Given the description of an element on the screen output the (x, y) to click on. 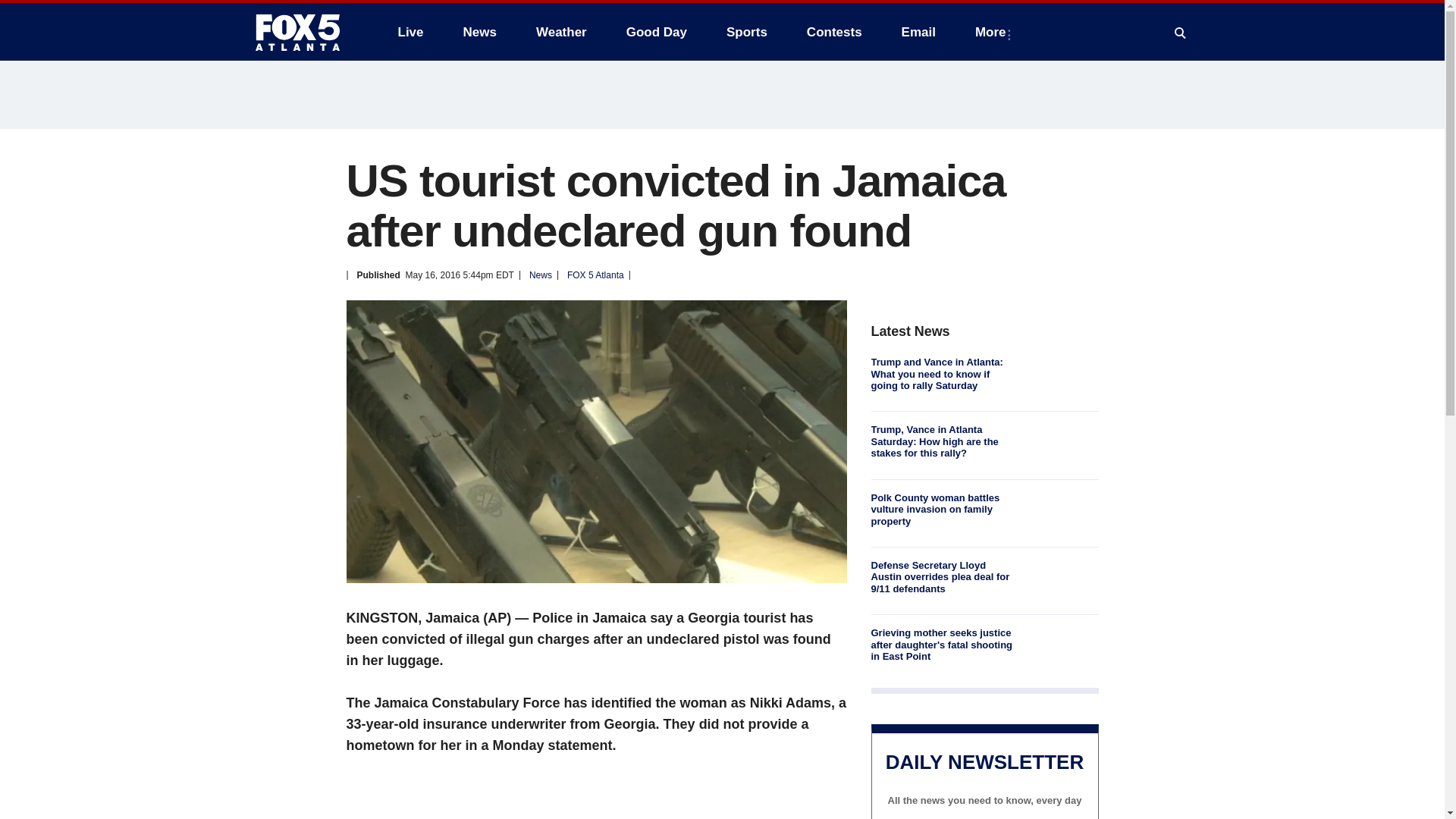
News (479, 32)
Contests (834, 32)
Weather (561, 32)
Live (410, 32)
More (993, 32)
Good Day (656, 32)
Sports (746, 32)
Email (918, 32)
